Given the description of an element on the screen output the (x, y) to click on. 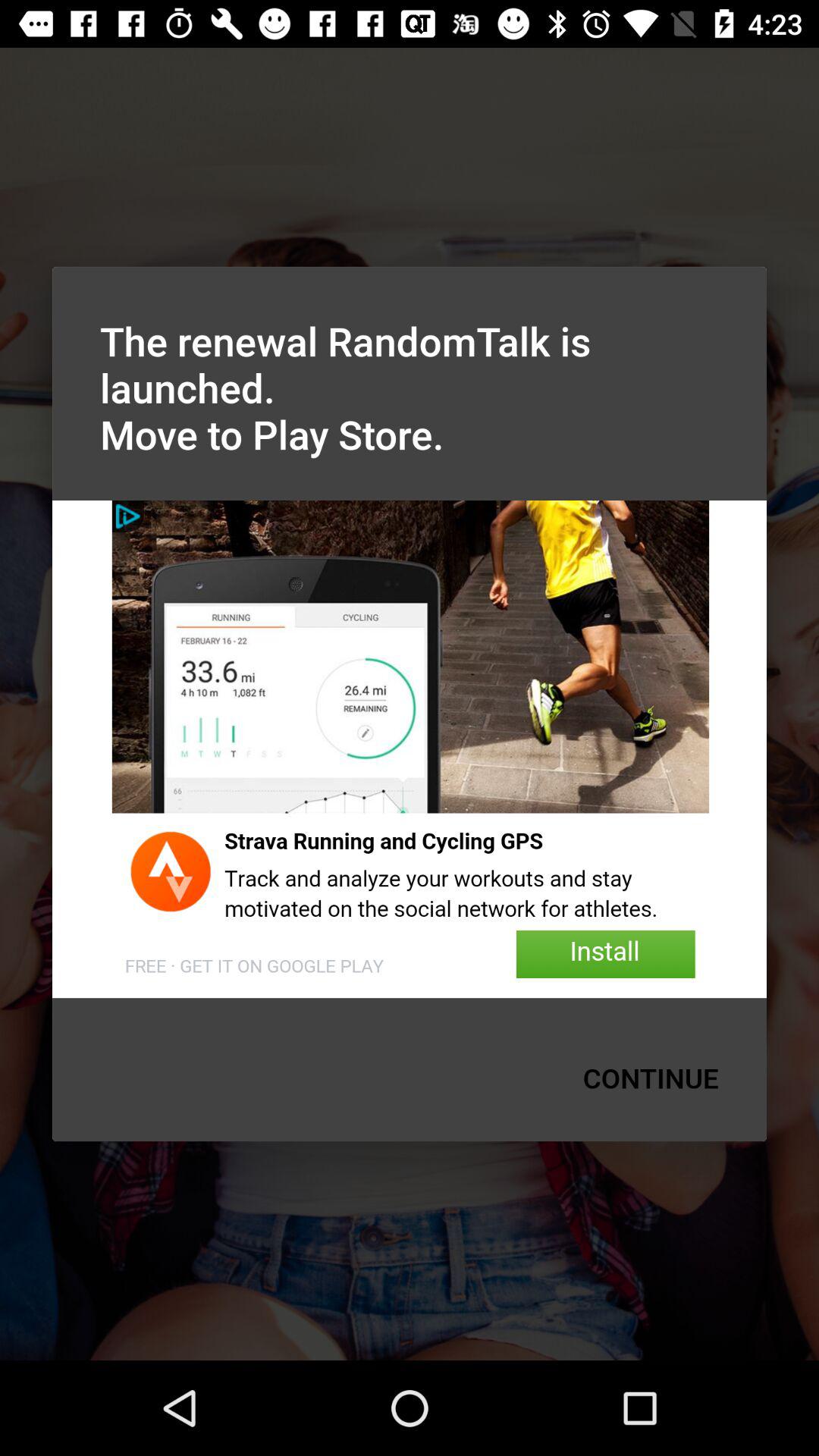
install app (409, 749)
